Given the description of an element on the screen output the (x, y) to click on. 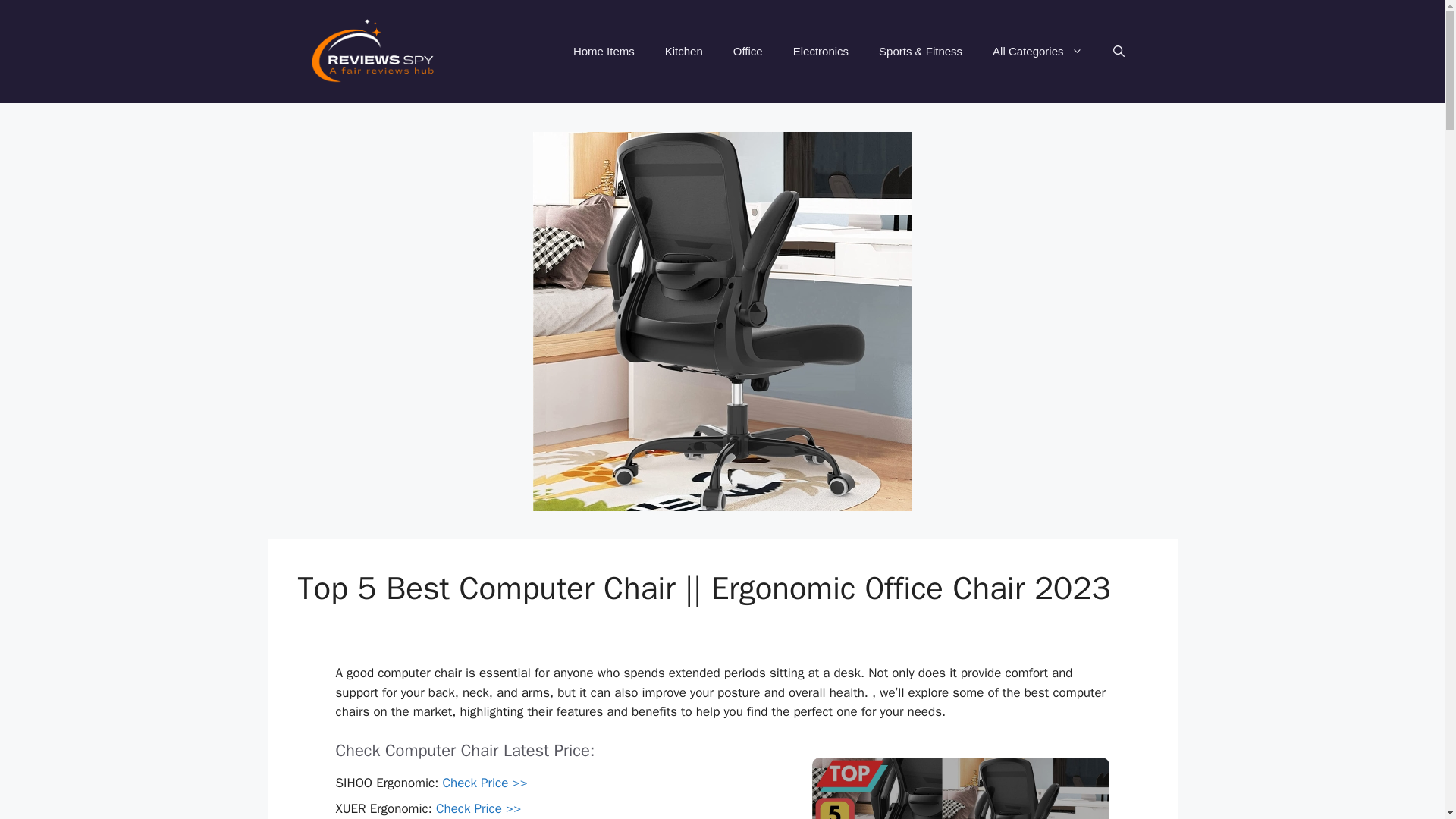
Home Items (603, 51)
Office (747, 51)
Kitchen (683, 51)
All Categories (1036, 51)
Electronics (820, 51)
